Given the description of an element on the screen output the (x, y) to click on. 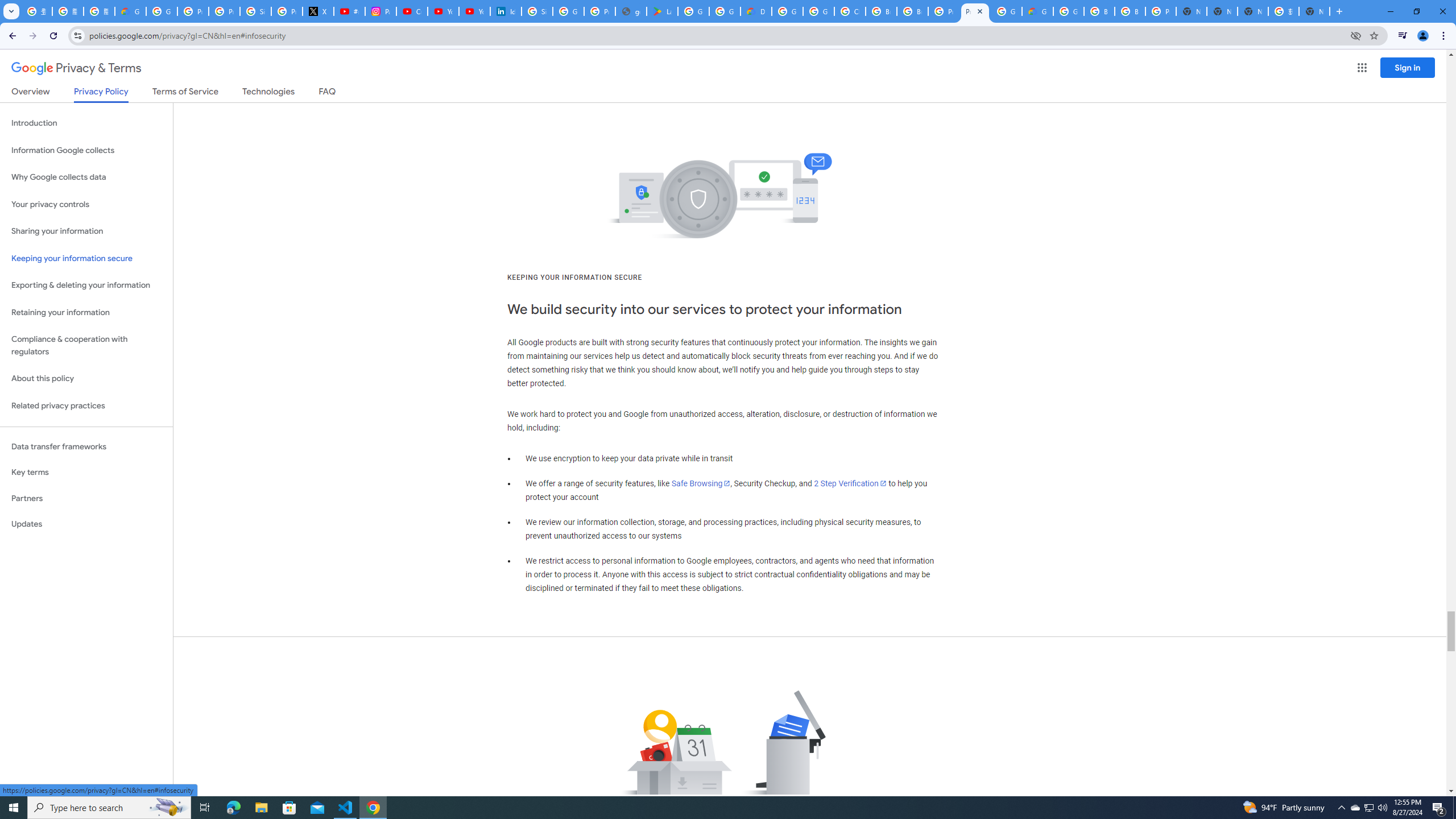
Google Cloud Platform (1068, 11)
Sharing your information (86, 230)
Google Cloud Privacy Notice (130, 11)
